Given the description of an element on the screen output the (x, y) to click on. 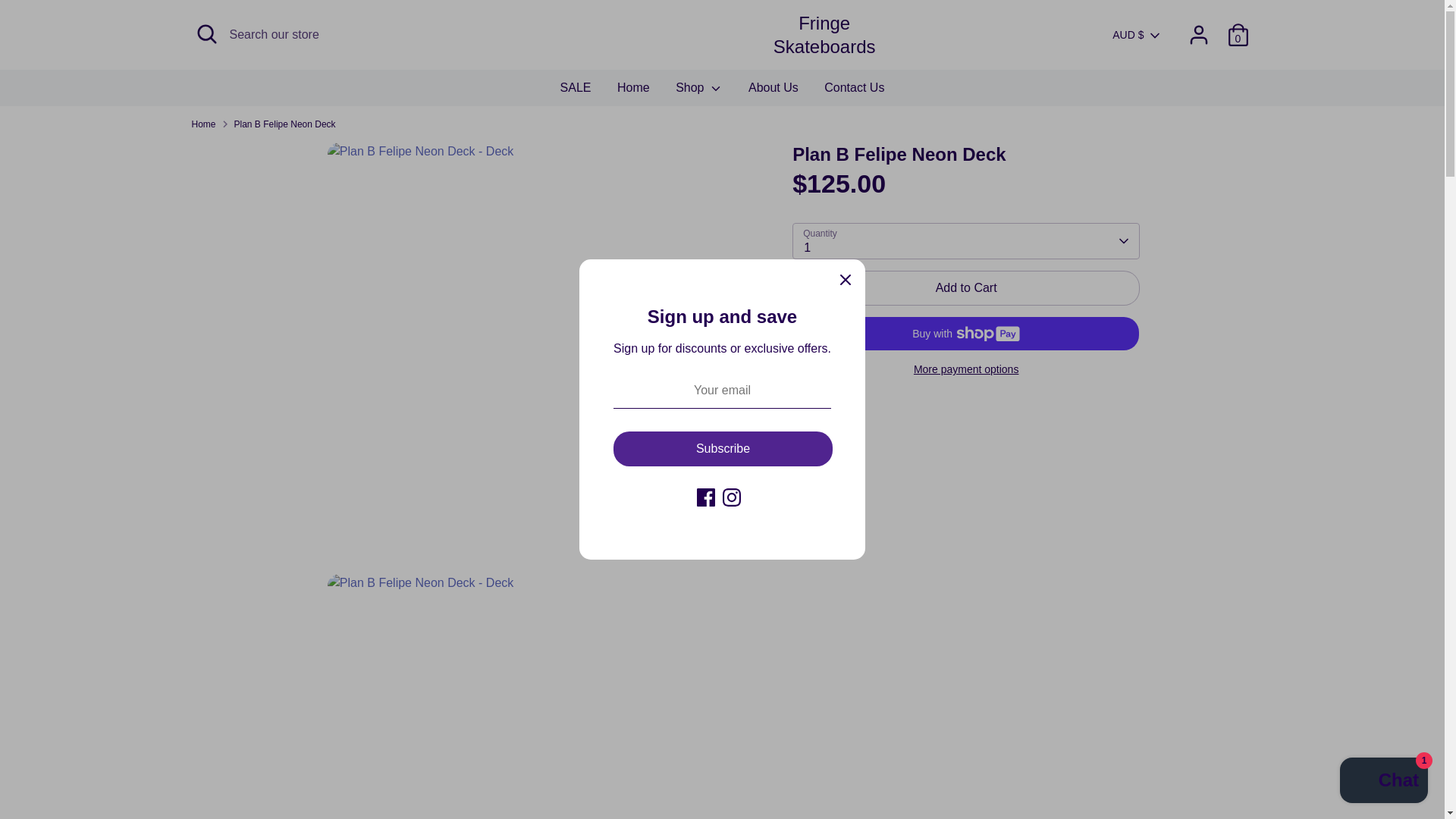
0 (1238, 34)
Fringe Skateboards (823, 34)
Shopify online store chat (1383, 781)
